Given the description of an element on the screen output the (x, y) to click on. 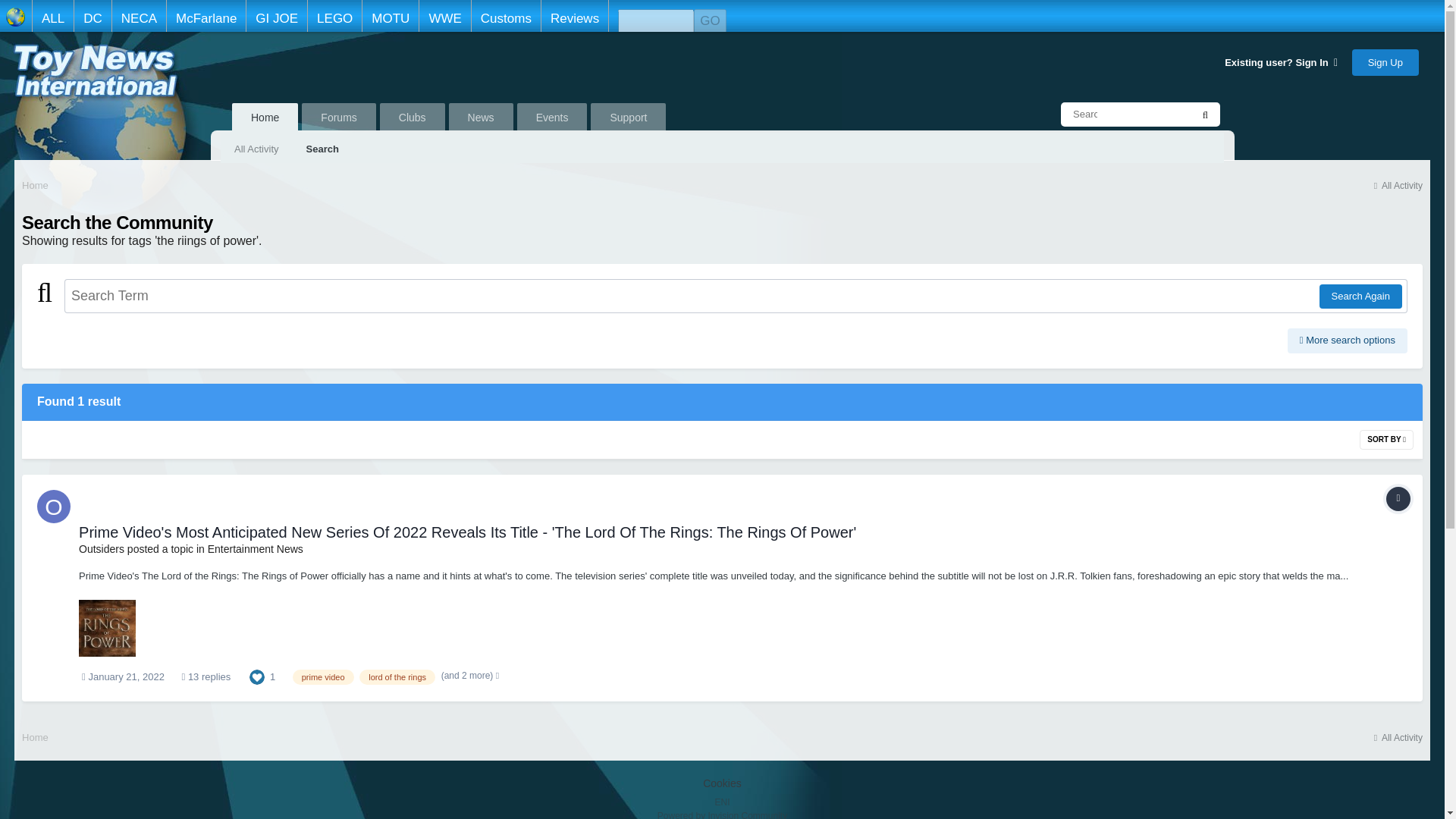
LEGO (334, 15)
Reviews (574, 15)
Find other content tagged with 'prime video' (322, 676)
Forums (338, 117)
Clubs (412, 117)
Customs (505, 15)
Sign Up (1385, 61)
Go to Outsiders's profile (53, 506)
Home (34, 184)
All Activity (1396, 185)
